Given the description of an element on the screen output the (x, y) to click on. 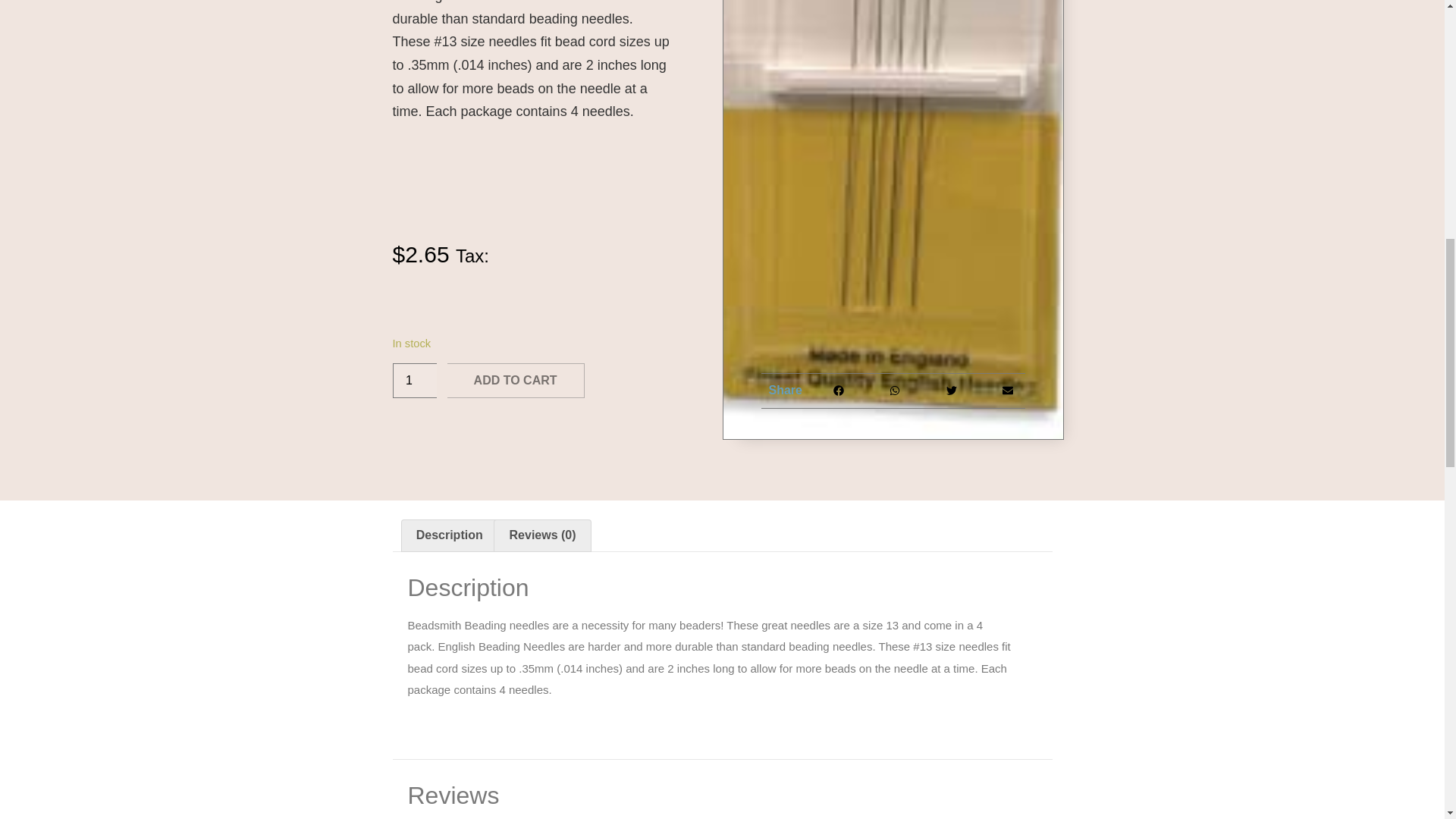
ADD TO CART (515, 380)
Description (449, 536)
1 (414, 380)
